Given the description of an element on the screen output the (x, y) to click on. 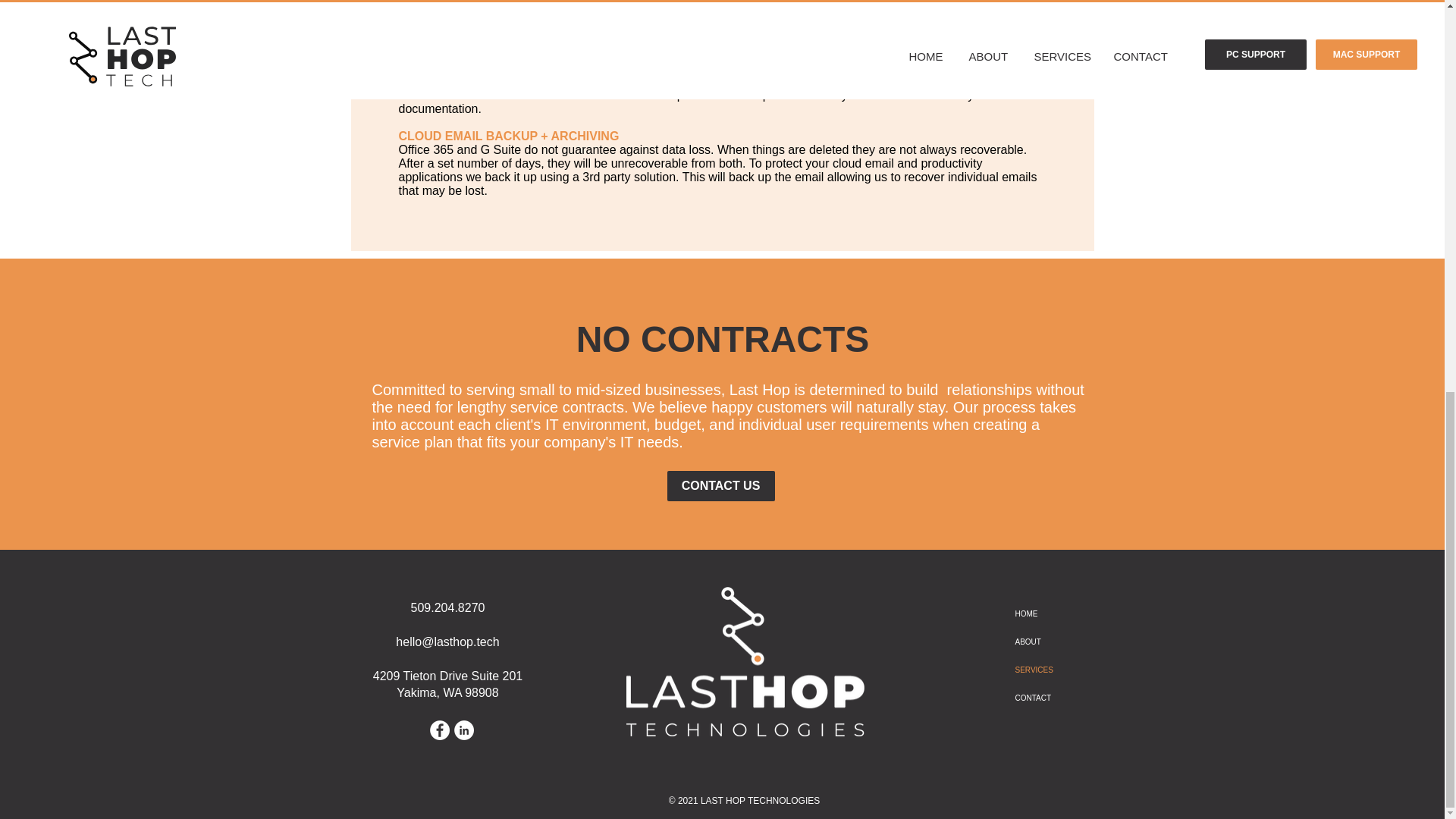
CONTACT US (720, 485)
CONTACT (1047, 697)
HOME (1047, 613)
ABOUT (1047, 642)
